Given the description of an element on the screen output the (x, y) to click on. 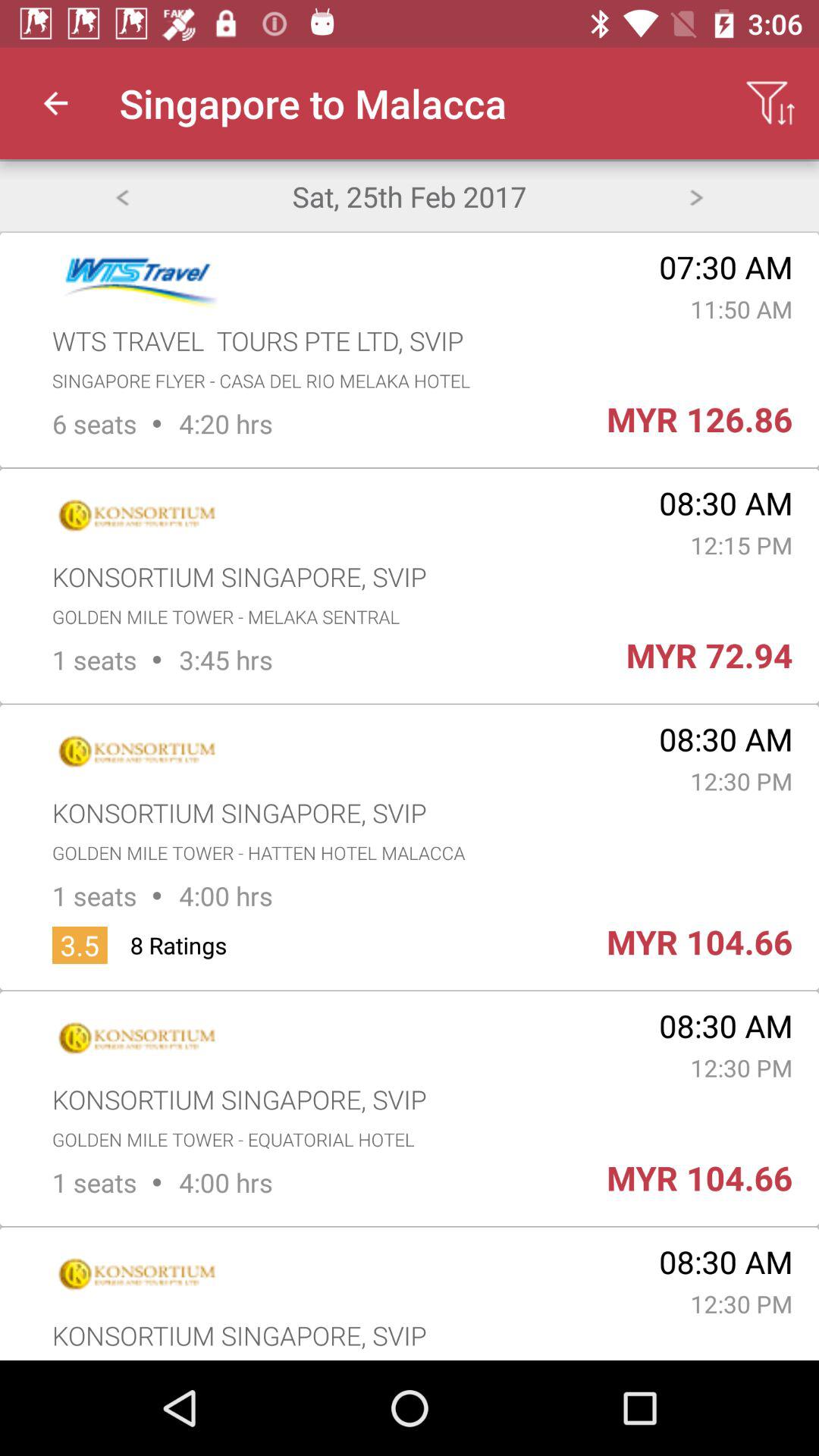
turn off app next to singapore to malacca icon (770, 103)
